Given the description of an element on the screen output the (x, y) to click on. 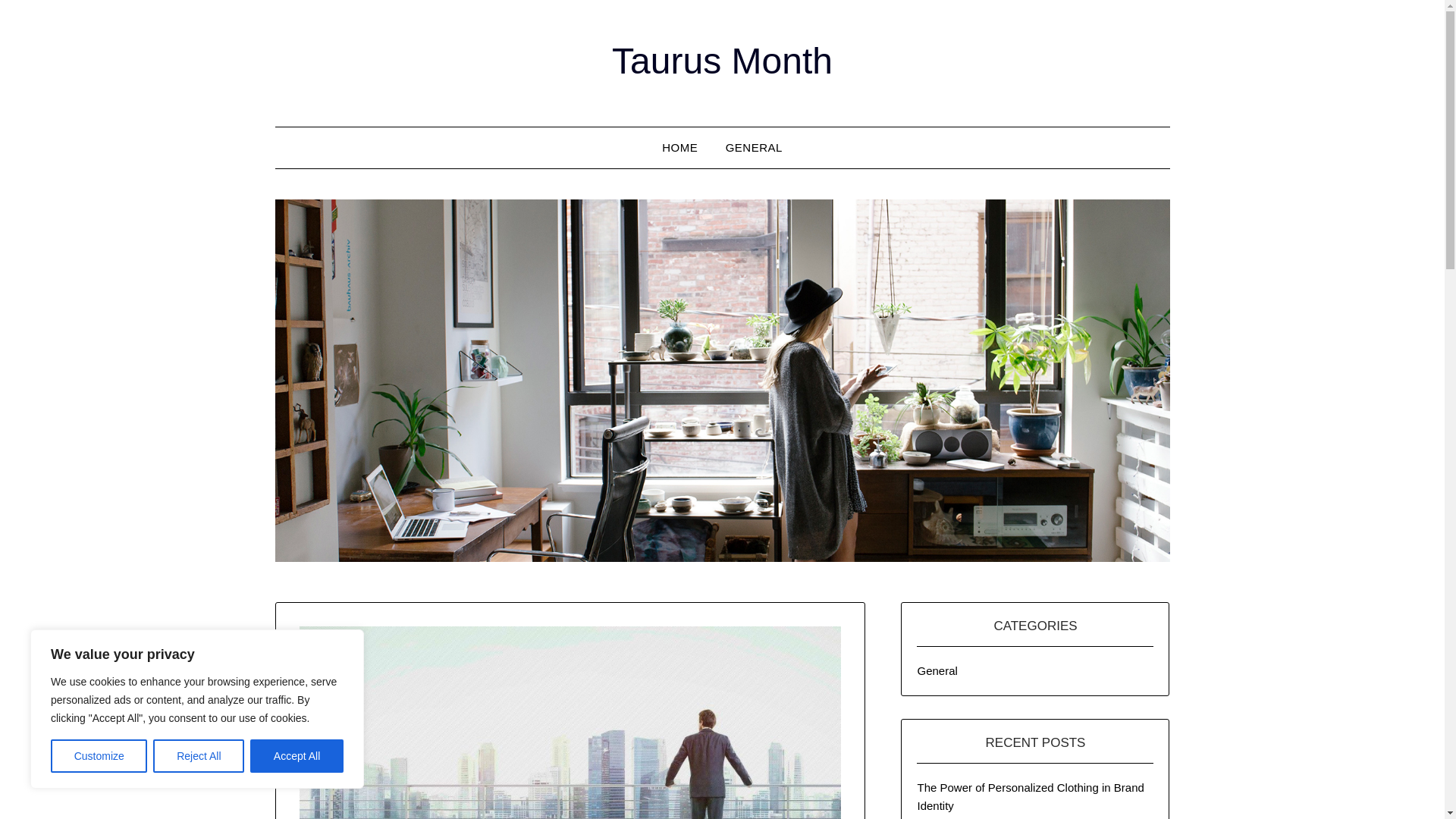
HOME (679, 147)
Customize (98, 756)
Taurus Month (721, 60)
General (936, 670)
Accept All (296, 756)
The Power of Personalized Clothing in Brand Identity (1029, 796)
GENERAL (753, 147)
Reject All (198, 756)
